Given the description of an element on the screen output the (x, y) to click on. 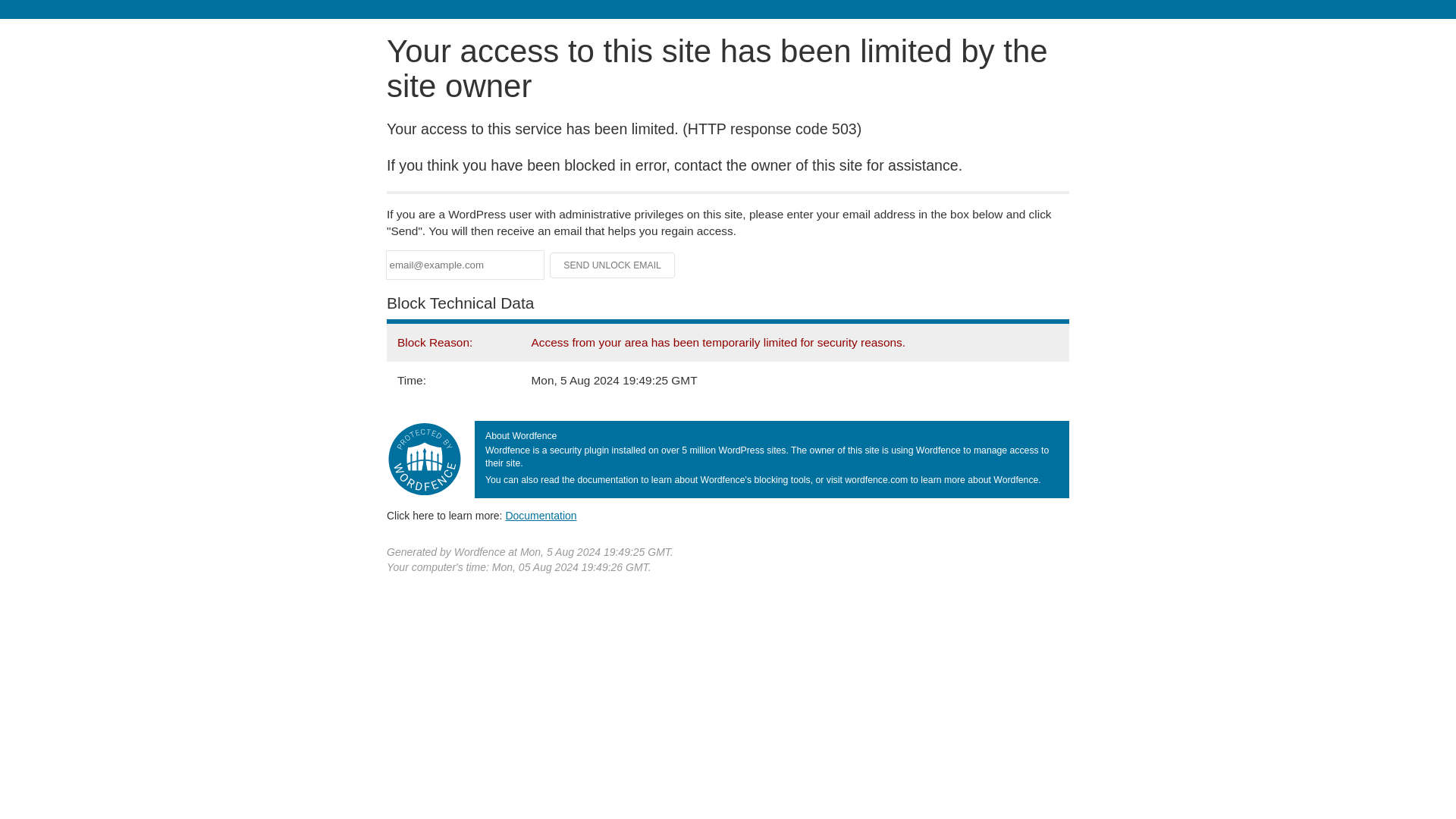
Documentation (540, 515)
Send Unlock Email (612, 265)
Send Unlock Email (612, 265)
